Given the description of an element on the screen output the (x, y) to click on. 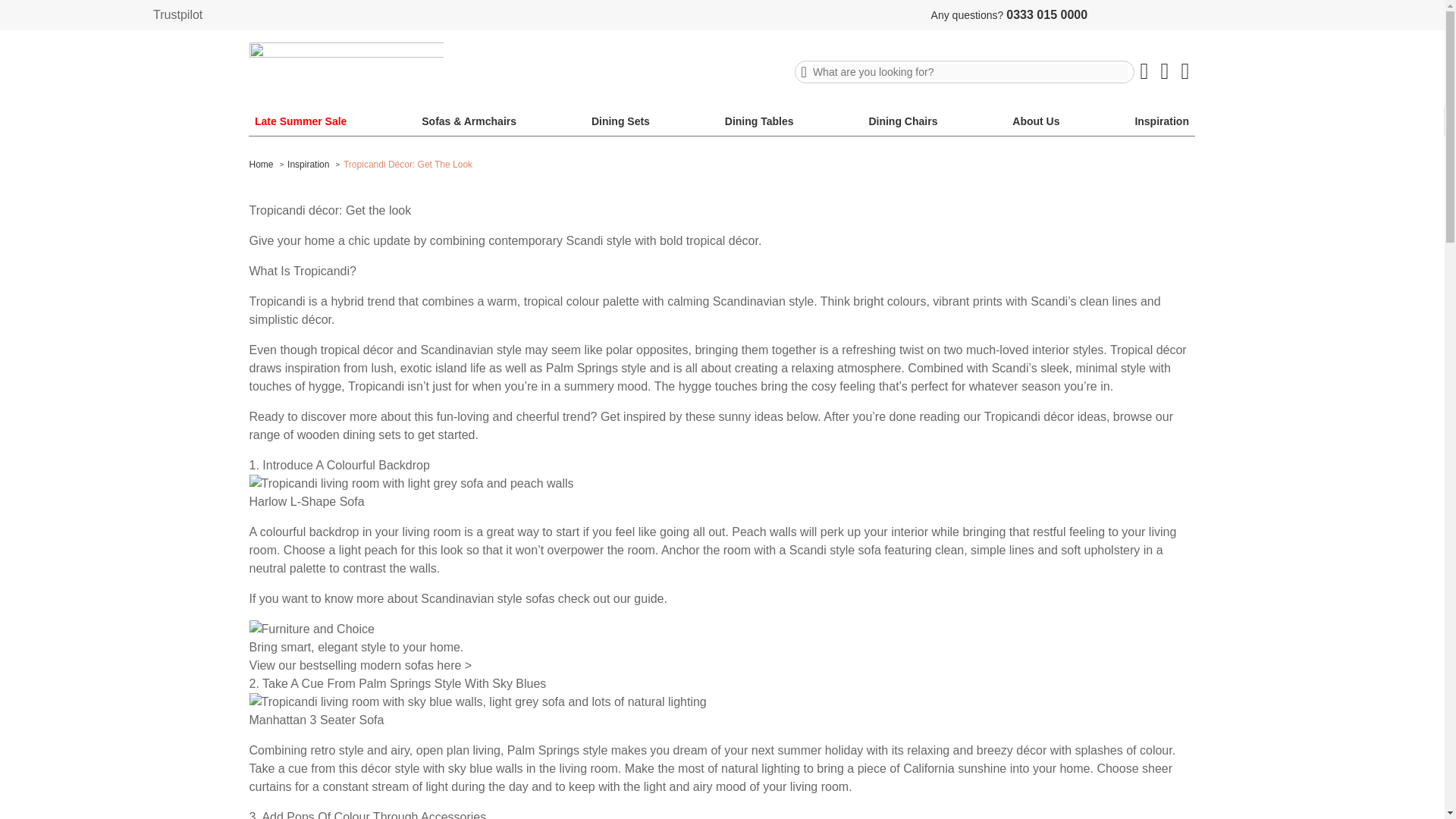
Inspiration (1161, 121)
Dining Sets (620, 121)
Dining Tables (759, 121)
Dining Chairs (902, 121)
About Us (1035, 121)
Trustpilot (177, 14)
Late Summer Sale (300, 121)
0333 015 0000 (1046, 14)
